Given the description of an element on the screen output the (x, y) to click on. 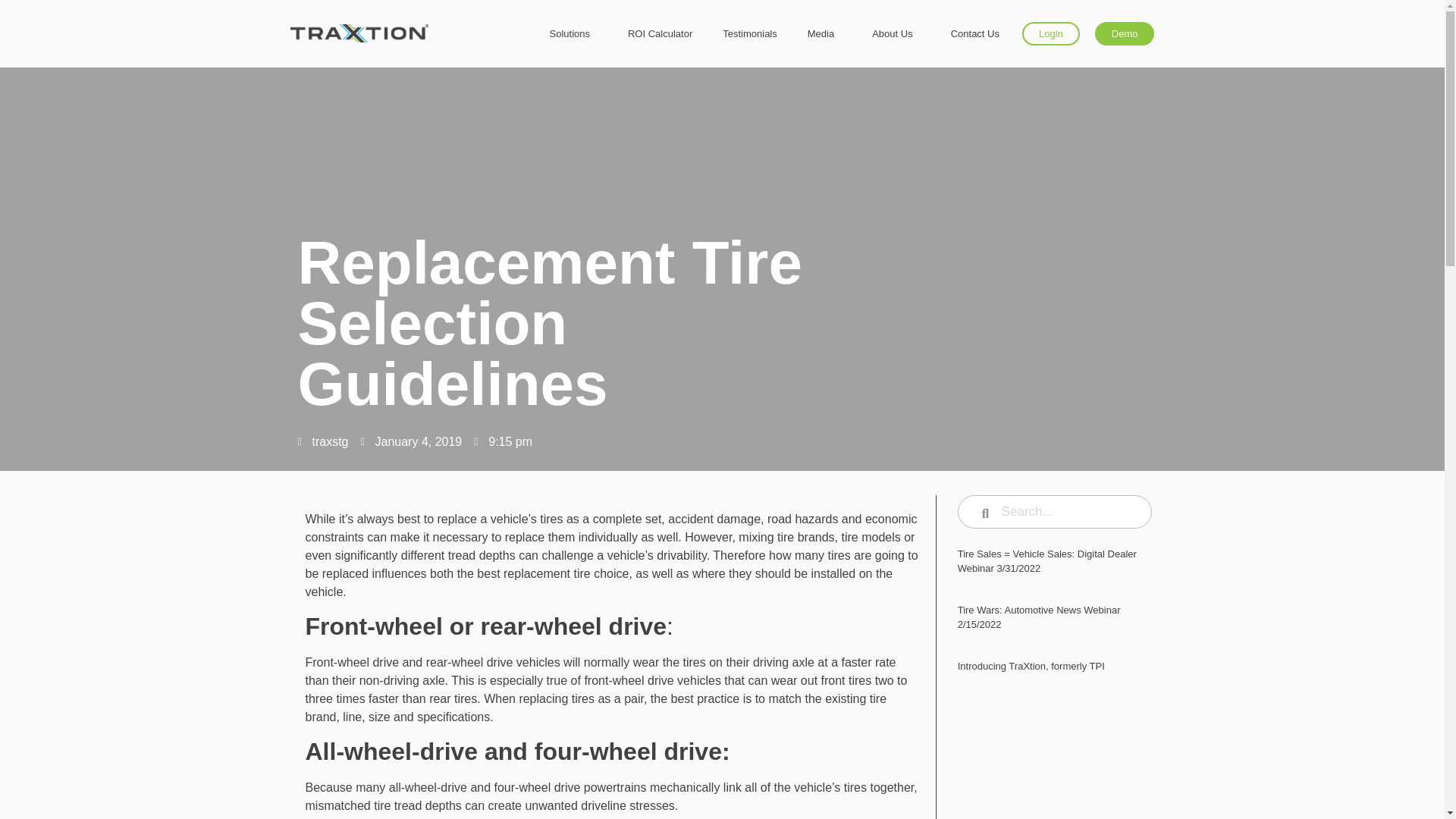
About Us (895, 7)
Login (1050, 21)
Media (824, 2)
Contact Us (979, 15)
Demo (1124, 22)
